Given the description of an element on the screen output the (x, y) to click on. 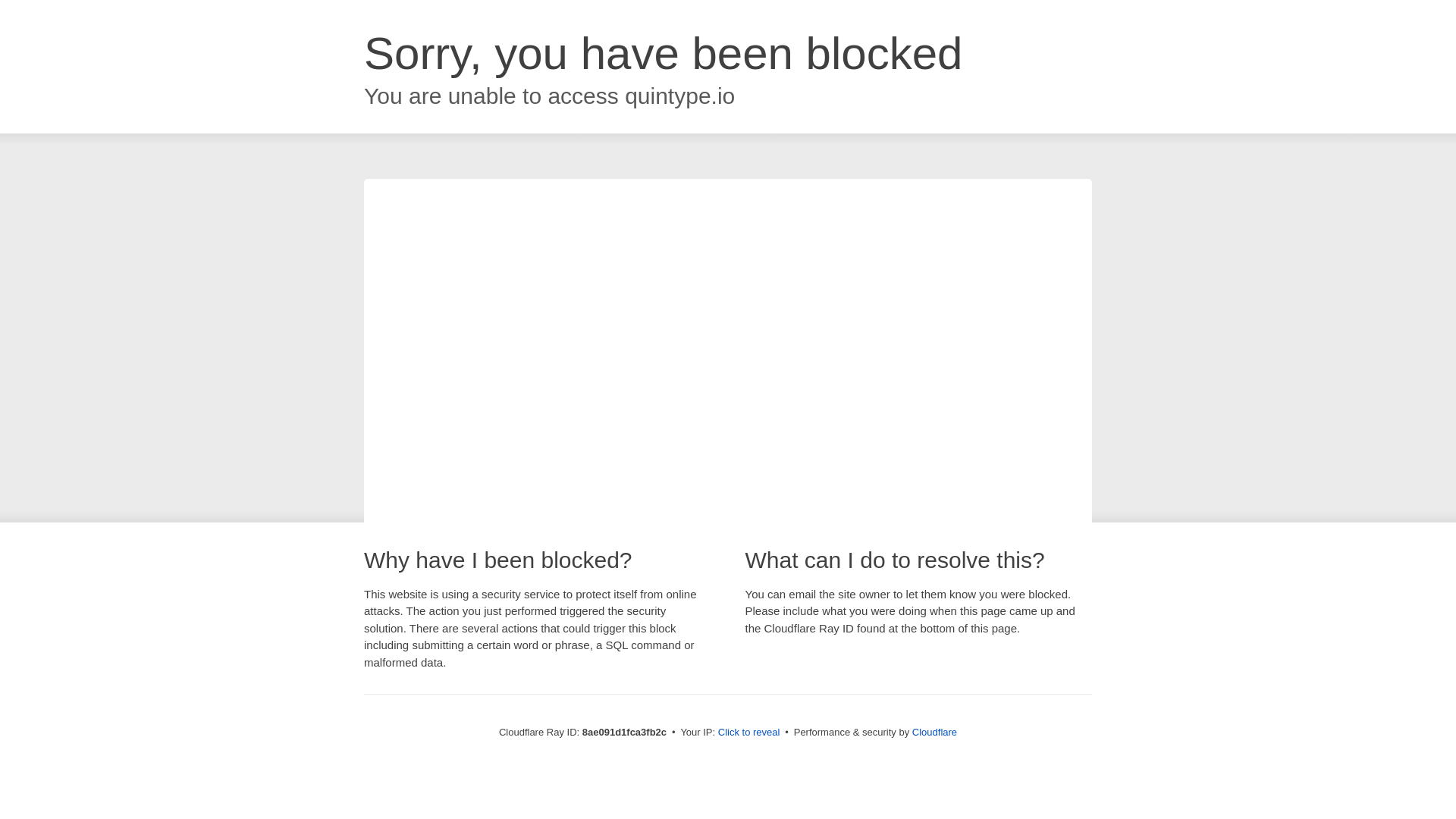
Click to reveal (748, 732)
Cloudflare (934, 731)
